Given the description of an element on the screen output the (x, y) to click on. 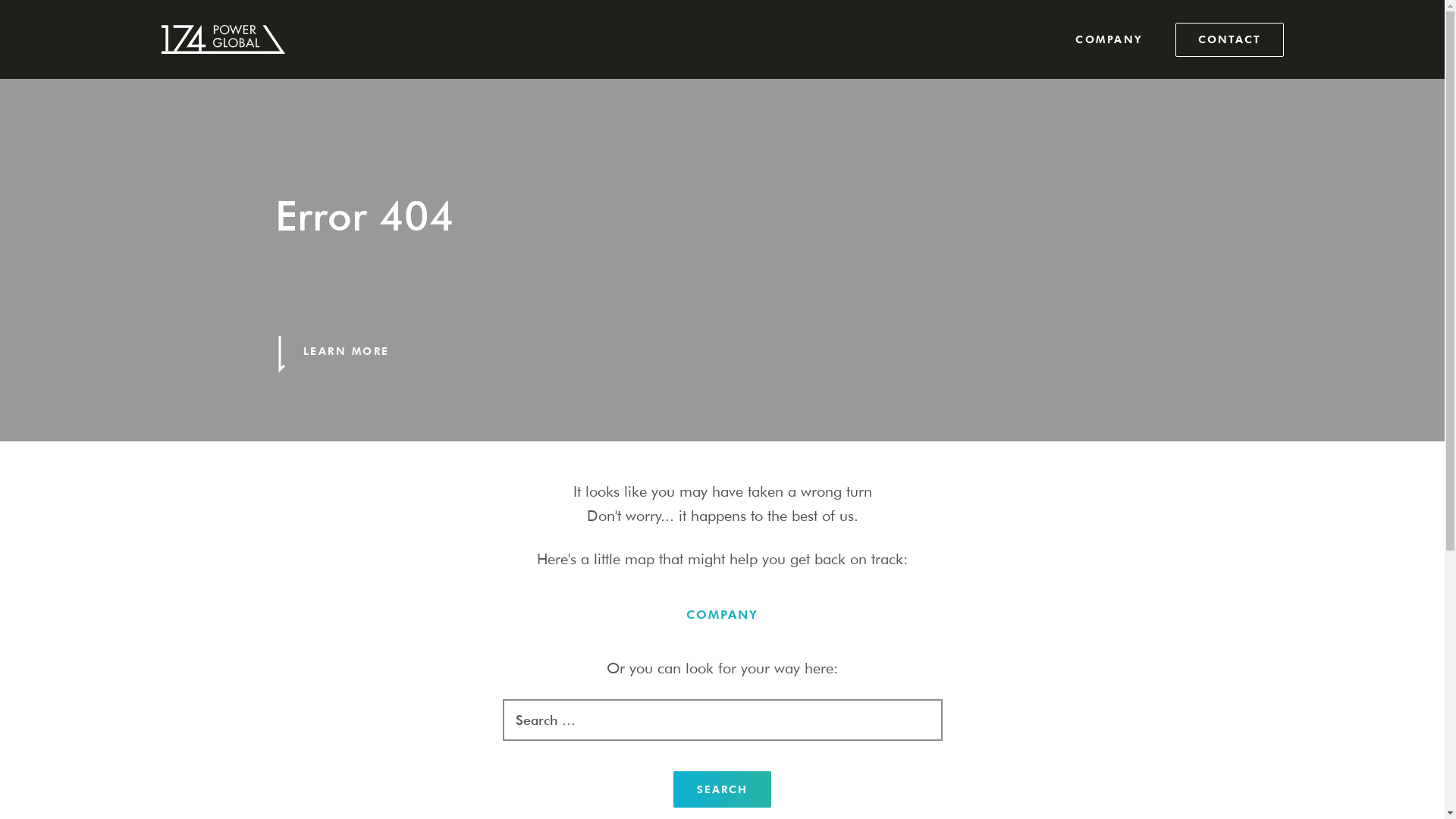
Search Element type: text (722, 789)
COMPANY Element type: text (1108, 39)
LEARN MORE Element type: text (346, 352)
CONTACT Element type: text (1229, 39)
COMPANY Element type: text (722, 614)
